Given the description of an element on the screen output the (x, y) to click on. 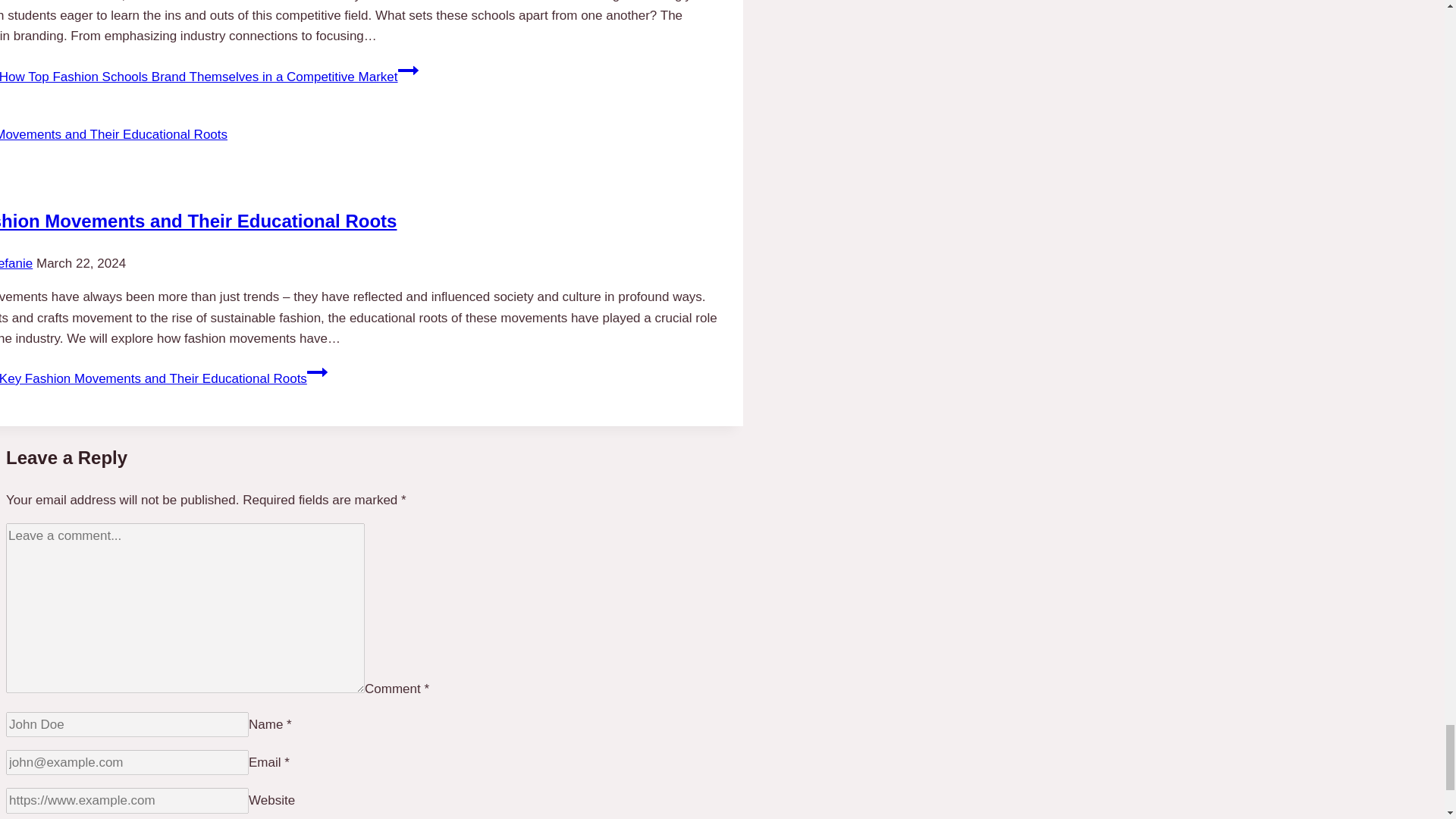
Key Fashion Movements and Their Educational Roots (198, 220)
Continue (408, 70)
Continue (317, 372)
yasminstefanie (16, 263)
